Given the description of an element on the screen output the (x, y) to click on. 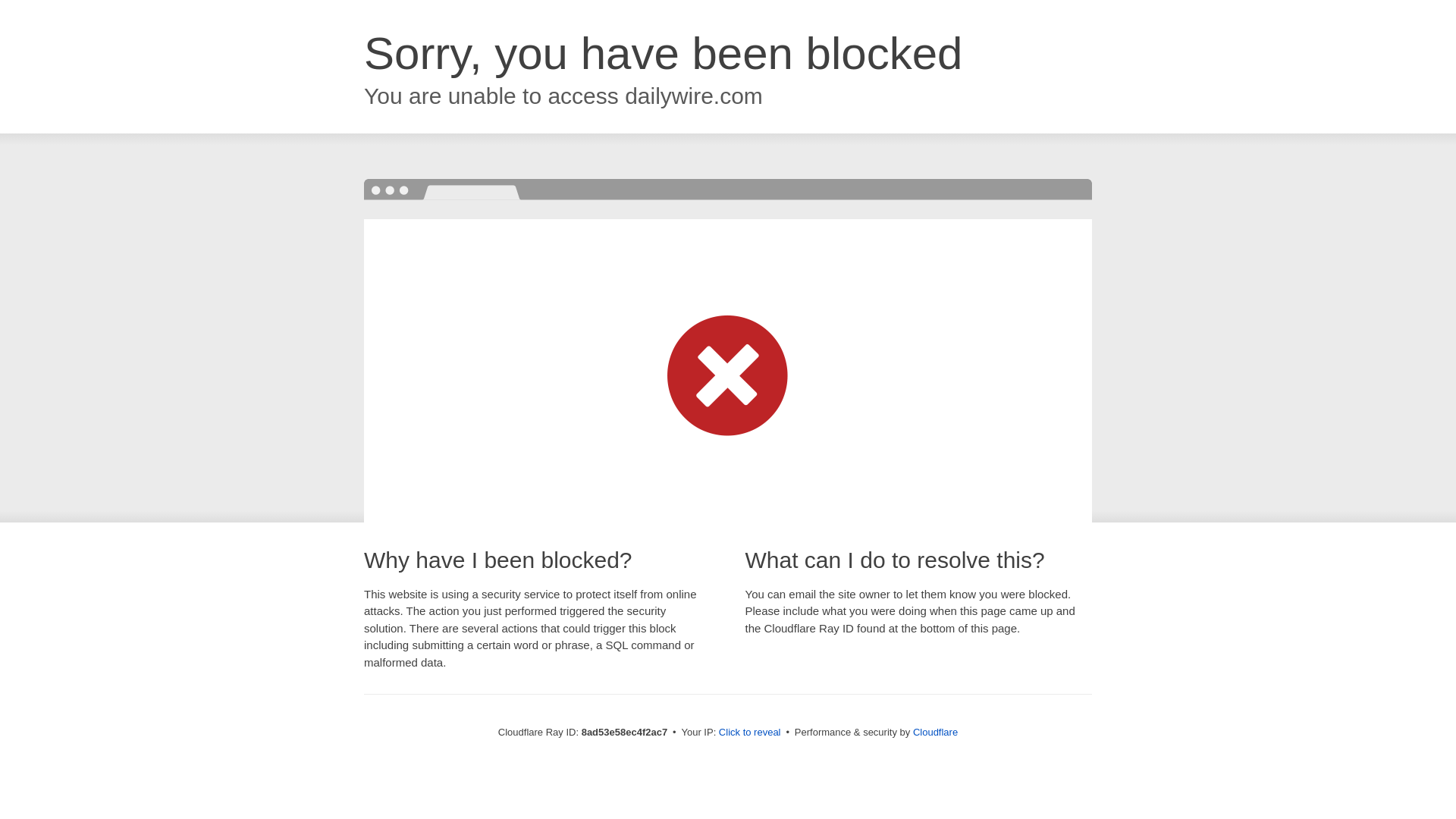
Cloudflare (935, 731)
Click to reveal (749, 732)
